Given the description of an element on the screen output the (x, y) to click on. 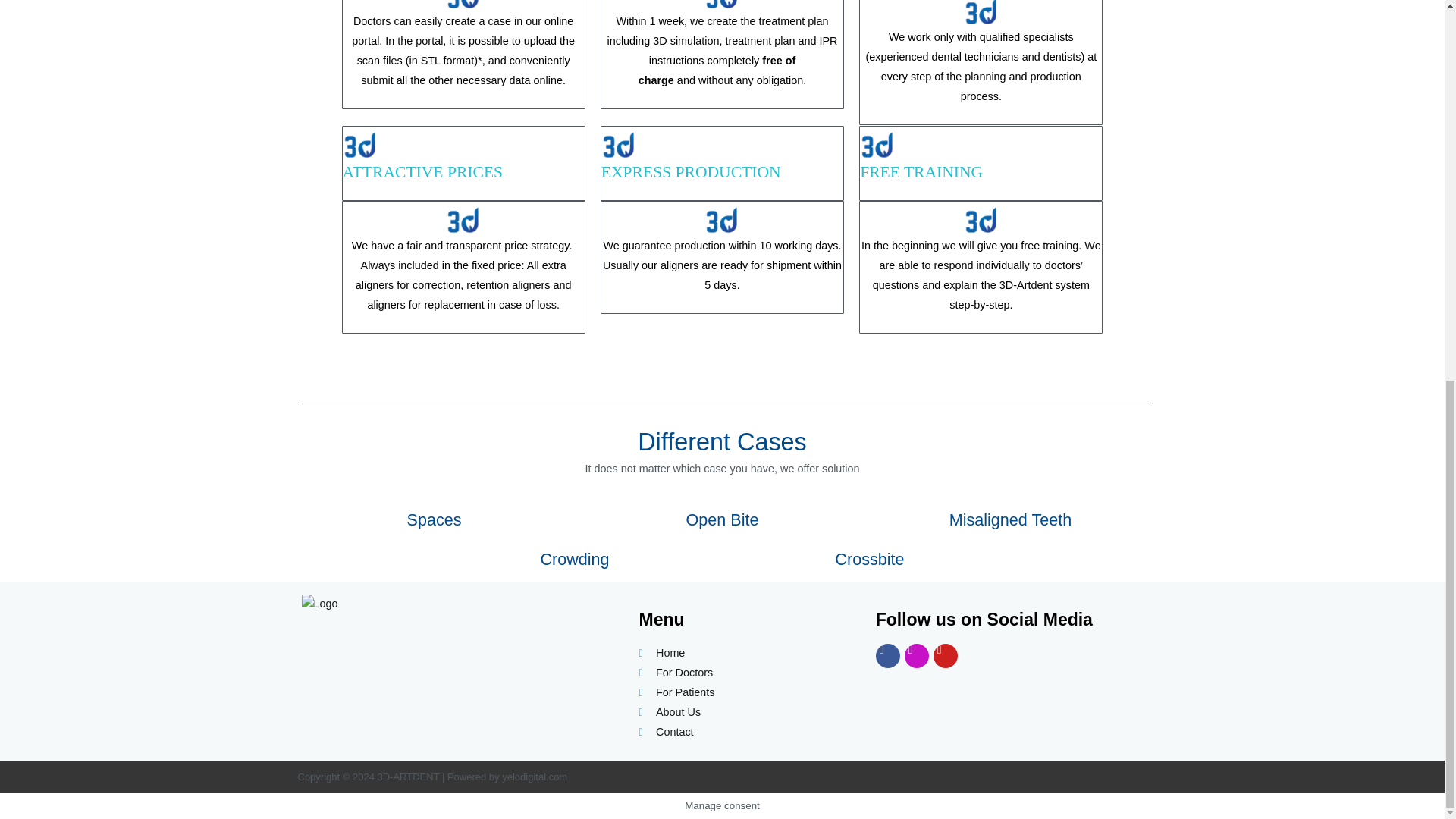
For Doctors (745, 673)
Contact (745, 732)
For Patients (745, 692)
About Us (745, 712)
Home (745, 653)
